Given the description of an element on the screen output the (x, y) to click on. 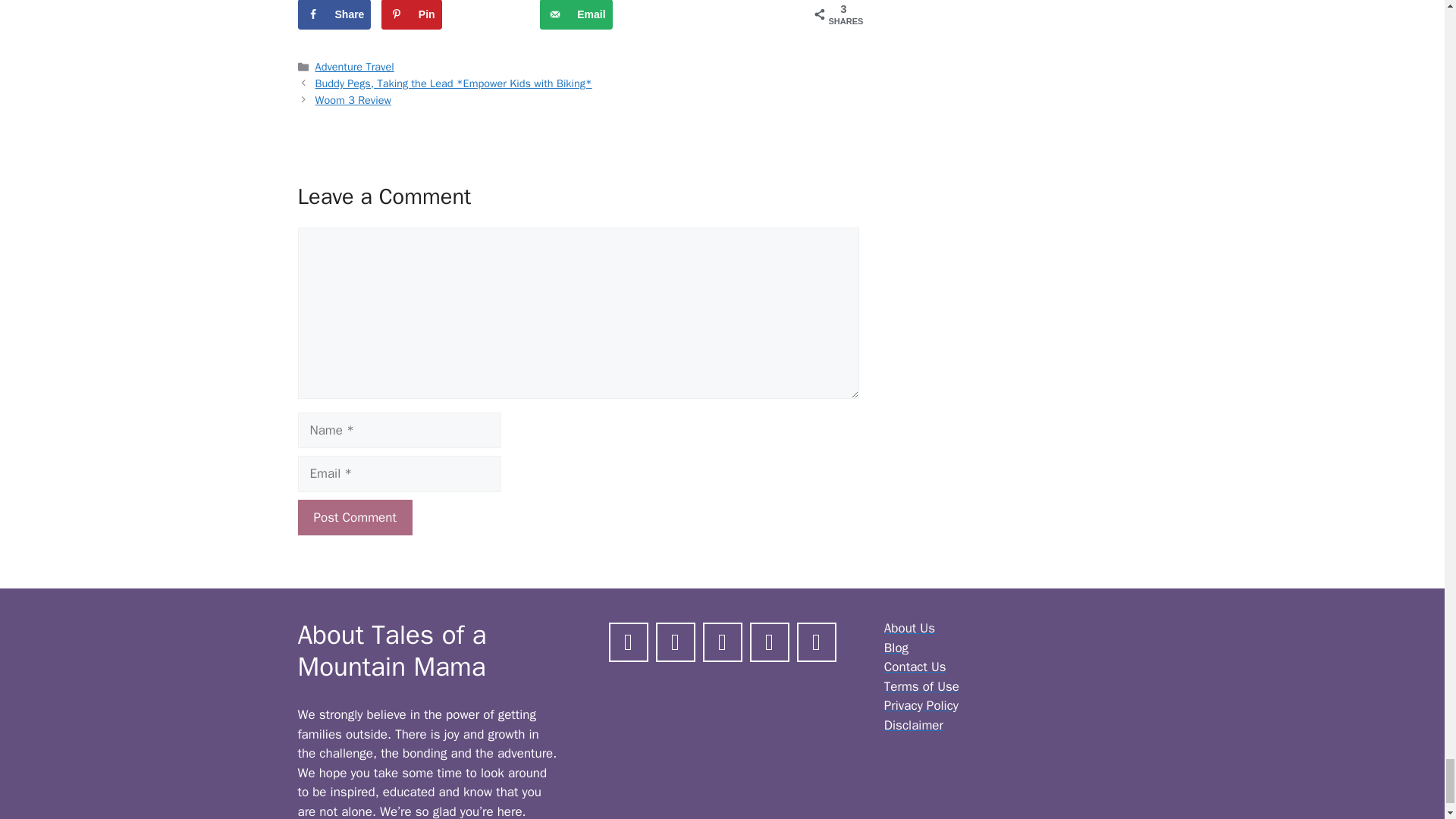
Share on Facebook (334, 14)
Post Comment (354, 517)
Instagram (675, 640)
Share on X (490, 14)
Send over email (575, 14)
Facebook (628, 640)
Pinterest (721, 640)
Save to Pinterest (411, 14)
